Given the description of an element on the screen output the (x, y) to click on. 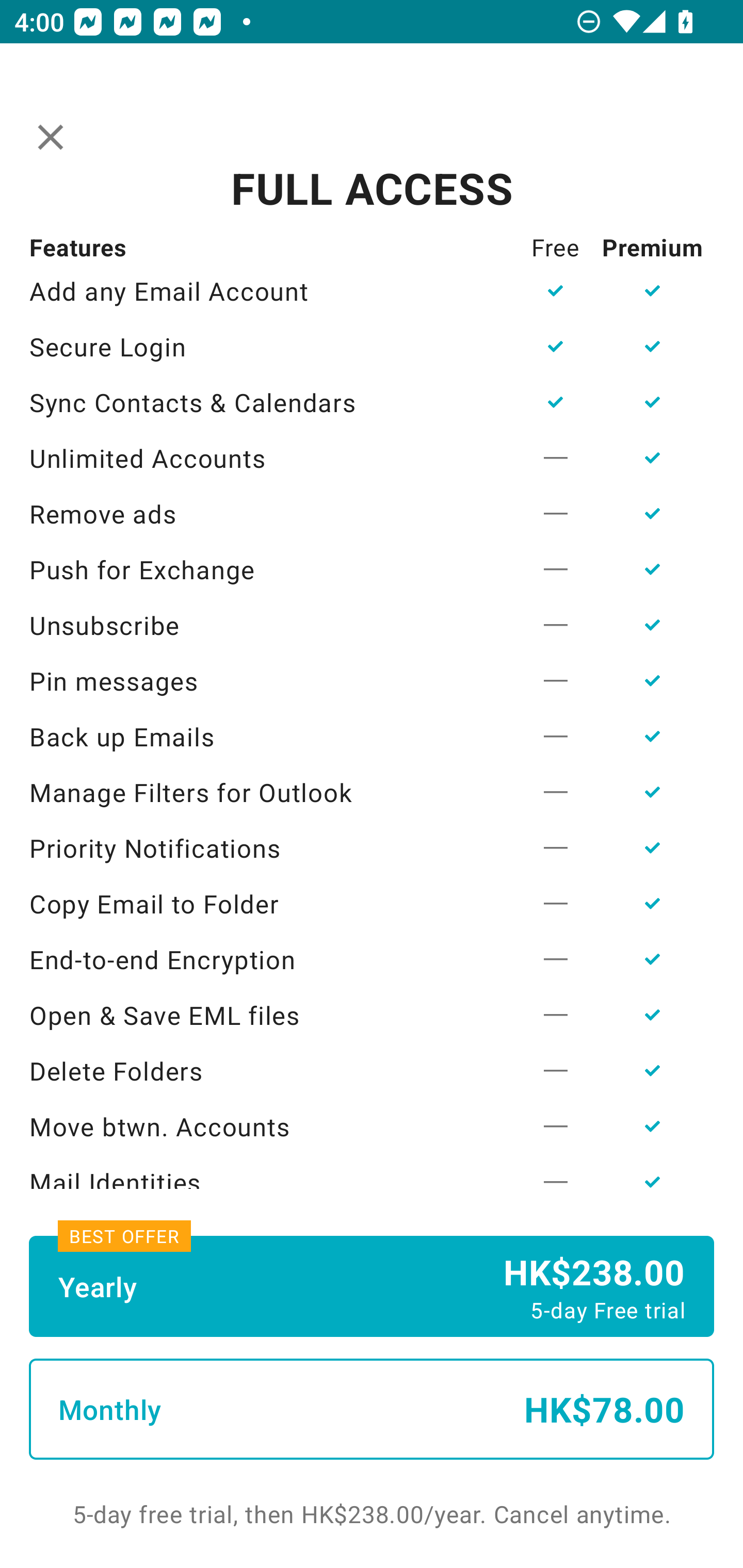
Yearly HK$238.00 5-day Free trial (371, 1286)
Monthly HK$78.00 (371, 1408)
